Given the description of an element on the screen output the (x, y) to click on. 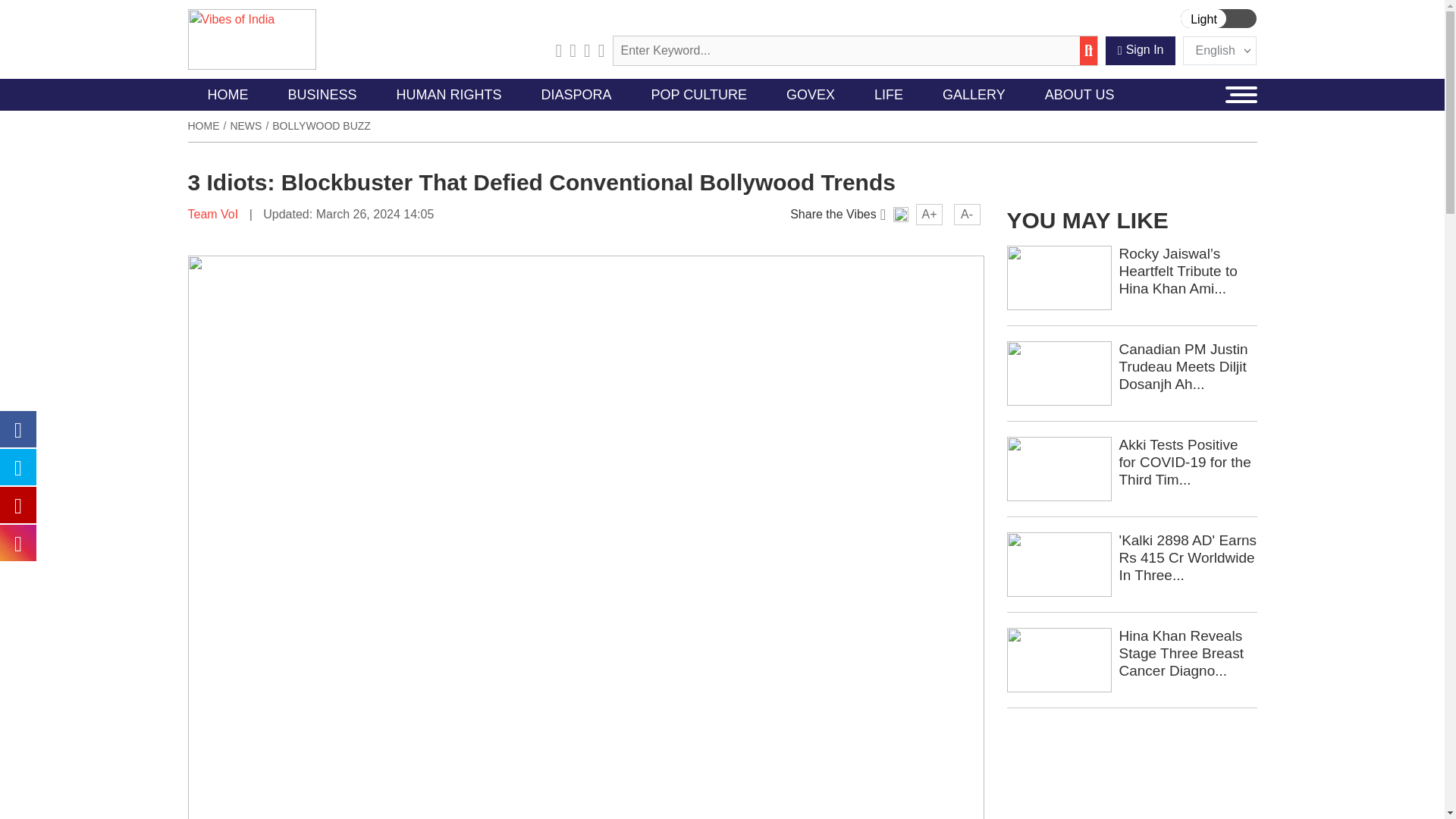
DIASPORA (576, 94)
Vibes of India (251, 39)
LIFE (888, 94)
Sign In (1140, 50)
Instagram (587, 50)
GALLERY (974, 94)
HOME (227, 94)
Facebook (572, 50)
Home (203, 125)
BUSINESS (322, 94)
ABOUT US (1079, 94)
POP CULTURE (699, 94)
Vibes of India (251, 38)
HUMAN RIGHTS (449, 94)
